Given the description of an element on the screen output the (x, y) to click on. 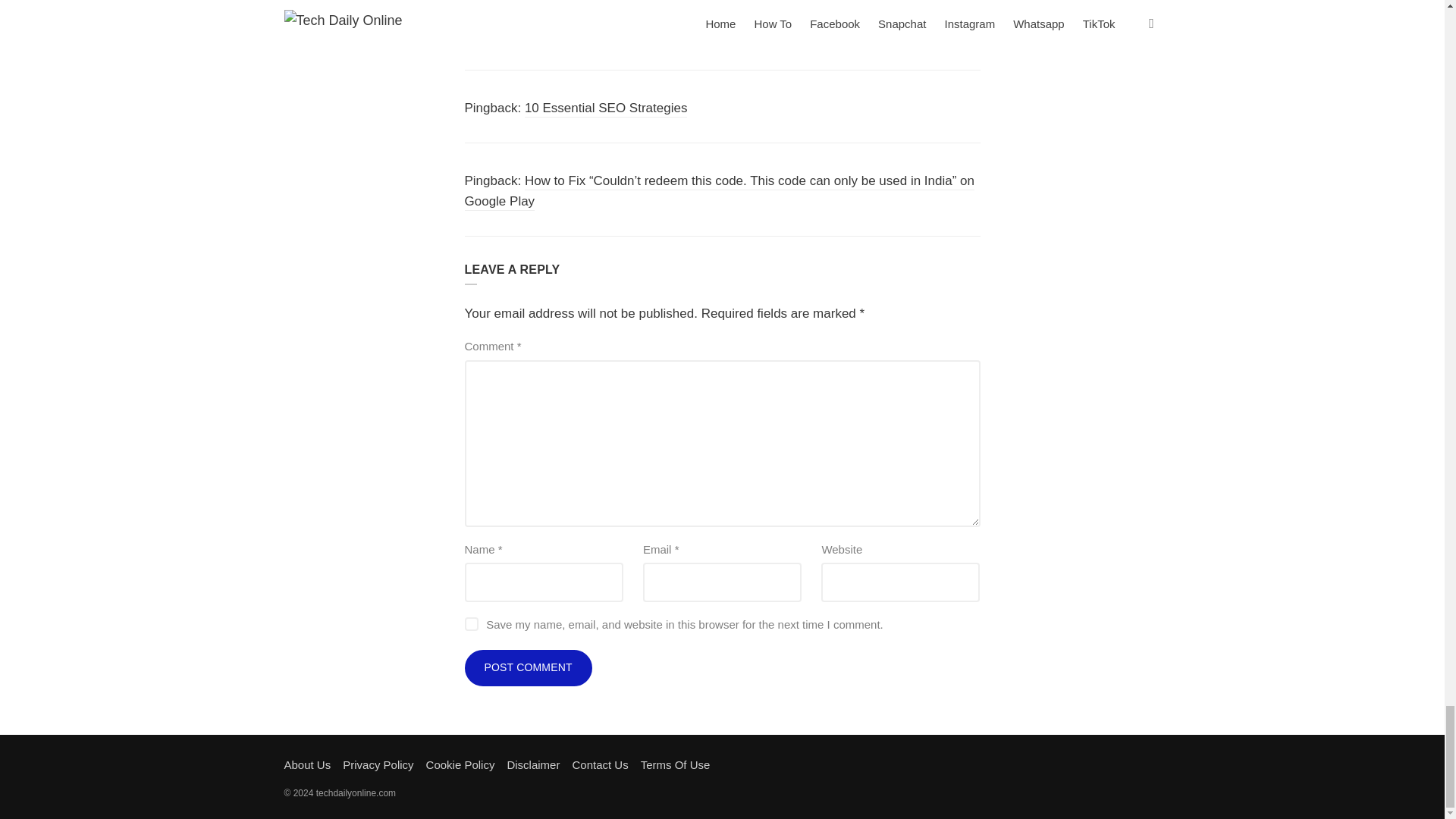
Post Comment (527, 668)
yes (470, 623)
